Given the description of an element on the screen output the (x, y) to click on. 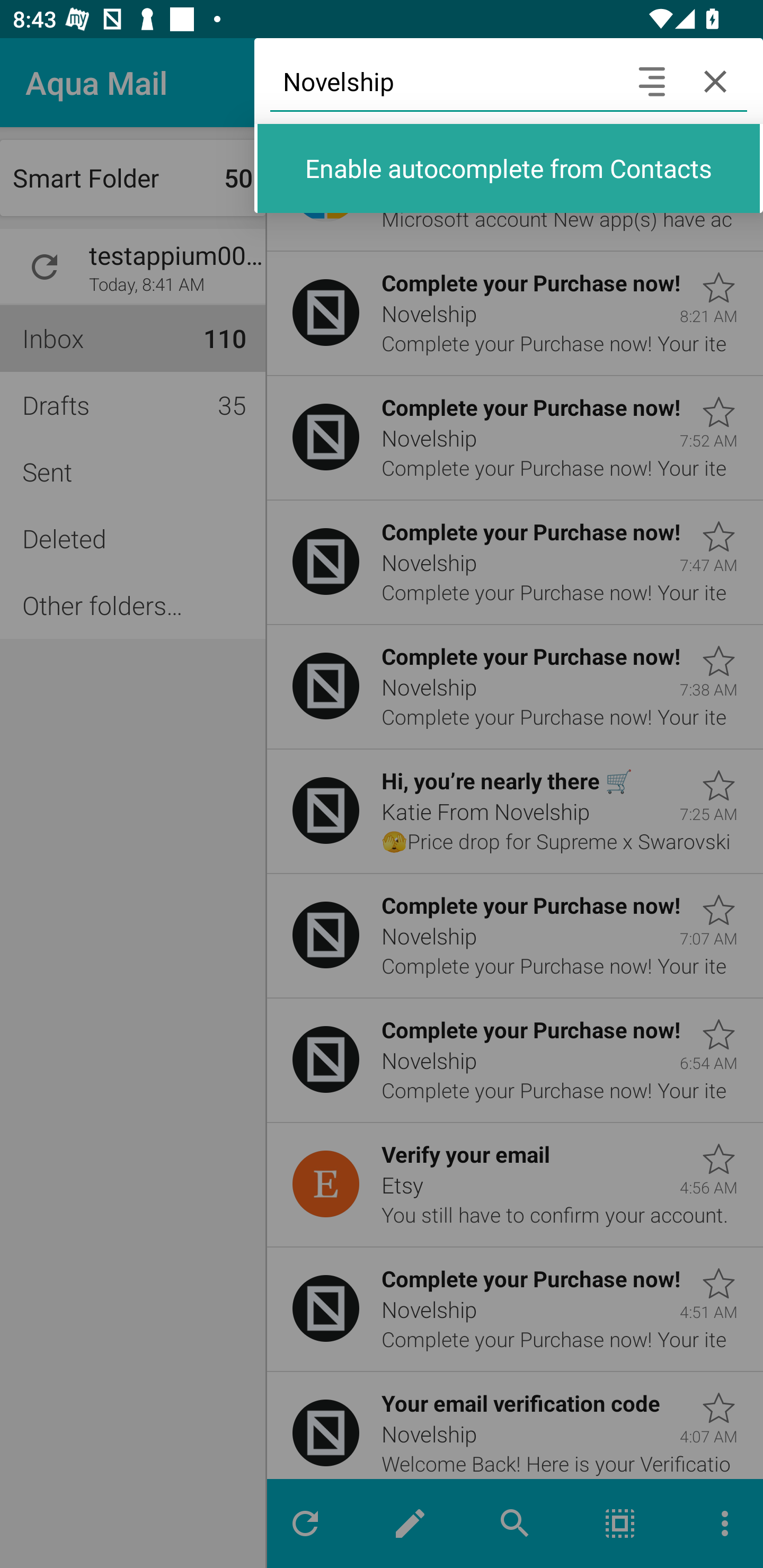
Novelship (444, 81)
Search headers and text (651, 81)
Cancel (714, 81)
